Given the description of an element on the screen output the (x, y) to click on. 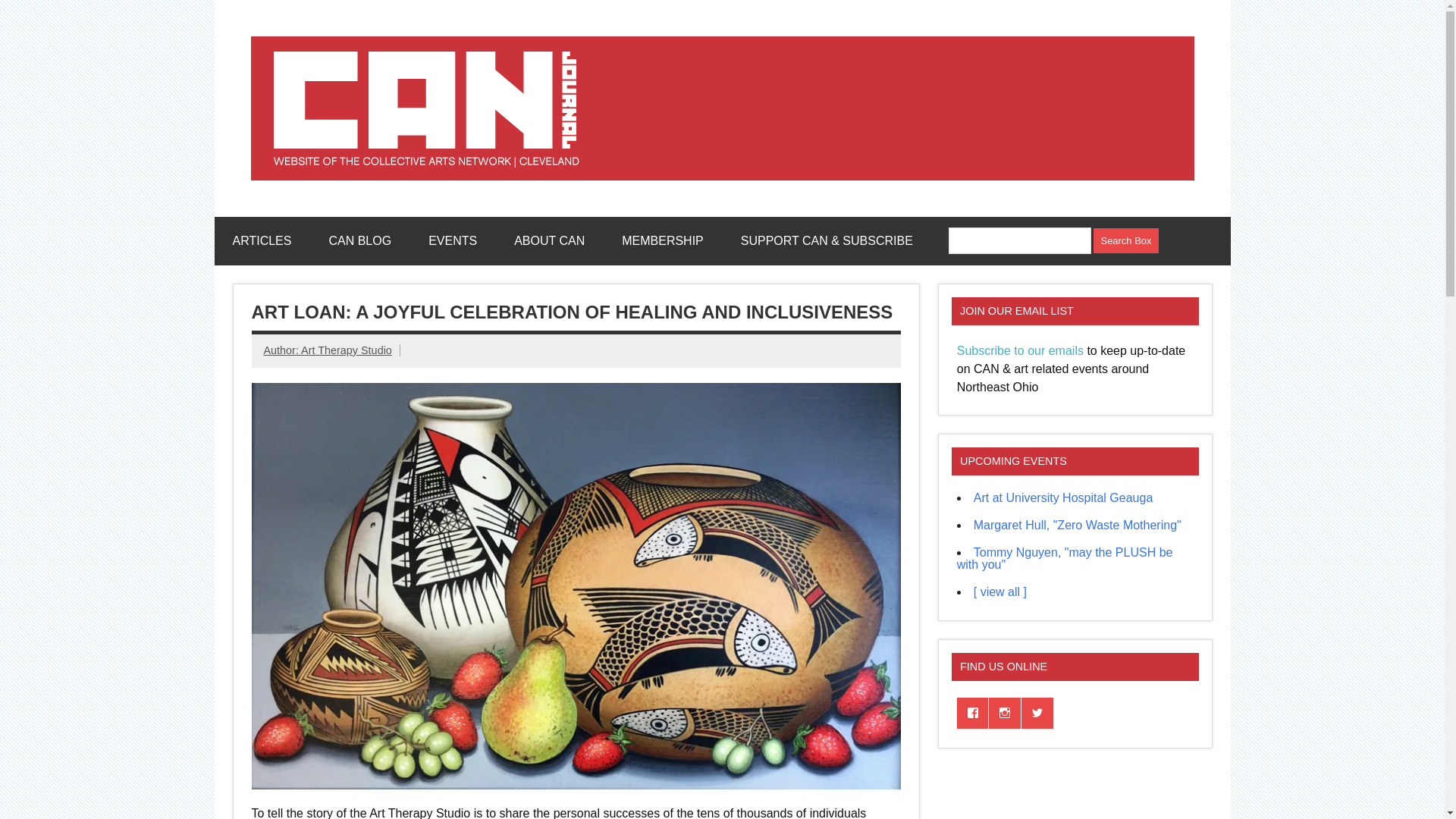
ARTICLES (261, 241)
Posts by Art Therapy Studio (346, 349)
Search Box (1125, 240)
Tommy Nguyen, "may the PLUSH be with you" (1064, 558)
MEMBERSHIP (663, 241)
View all posts by Art Therapy Studio (282, 349)
CAN BLOG (359, 241)
EVENTS (452, 241)
Art Therapy Studio (346, 349)
Search Box (1125, 240)
